Given the description of an element on the screen output the (x, y) to click on. 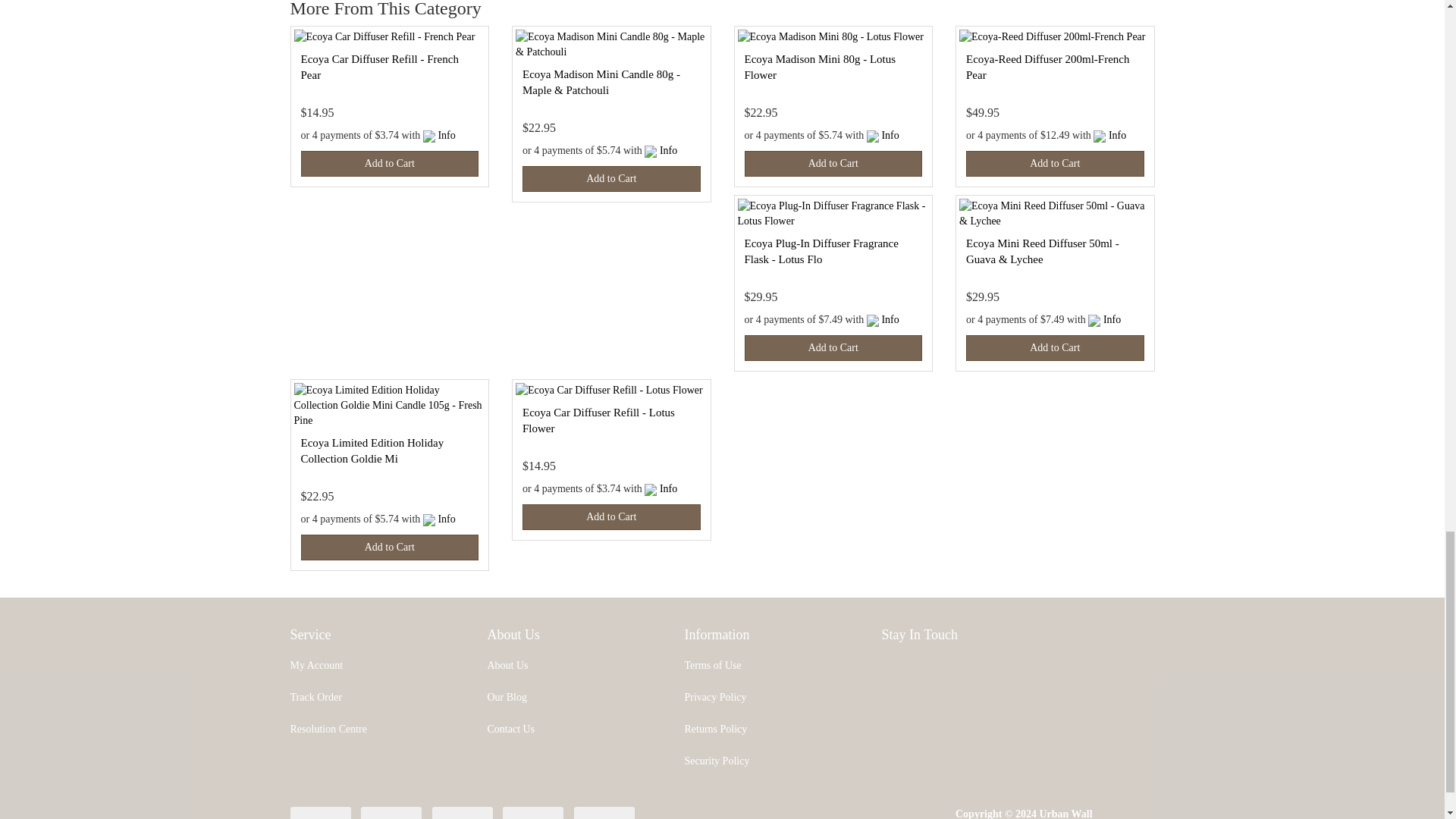
Add to Cart (389, 163)
Add Ecoya Madison Mini 80g - Lotus Flower to Cart (833, 163)
Info (446, 134)
Add Ecoya-Reed Diffuser 200ml-French Pear to Cart (1055, 163)
Ecoya Car Diffuser Refill - French Pear (378, 67)
Add to Cart (611, 178)
Info (668, 150)
Add Ecoya Car Diffuser Refill - French Pear to Cart (389, 163)
Add Ecoya Car Diffuser Refill - Lotus Flower to Cart (611, 516)
